Given the description of an element on the screen output the (x, y) to click on. 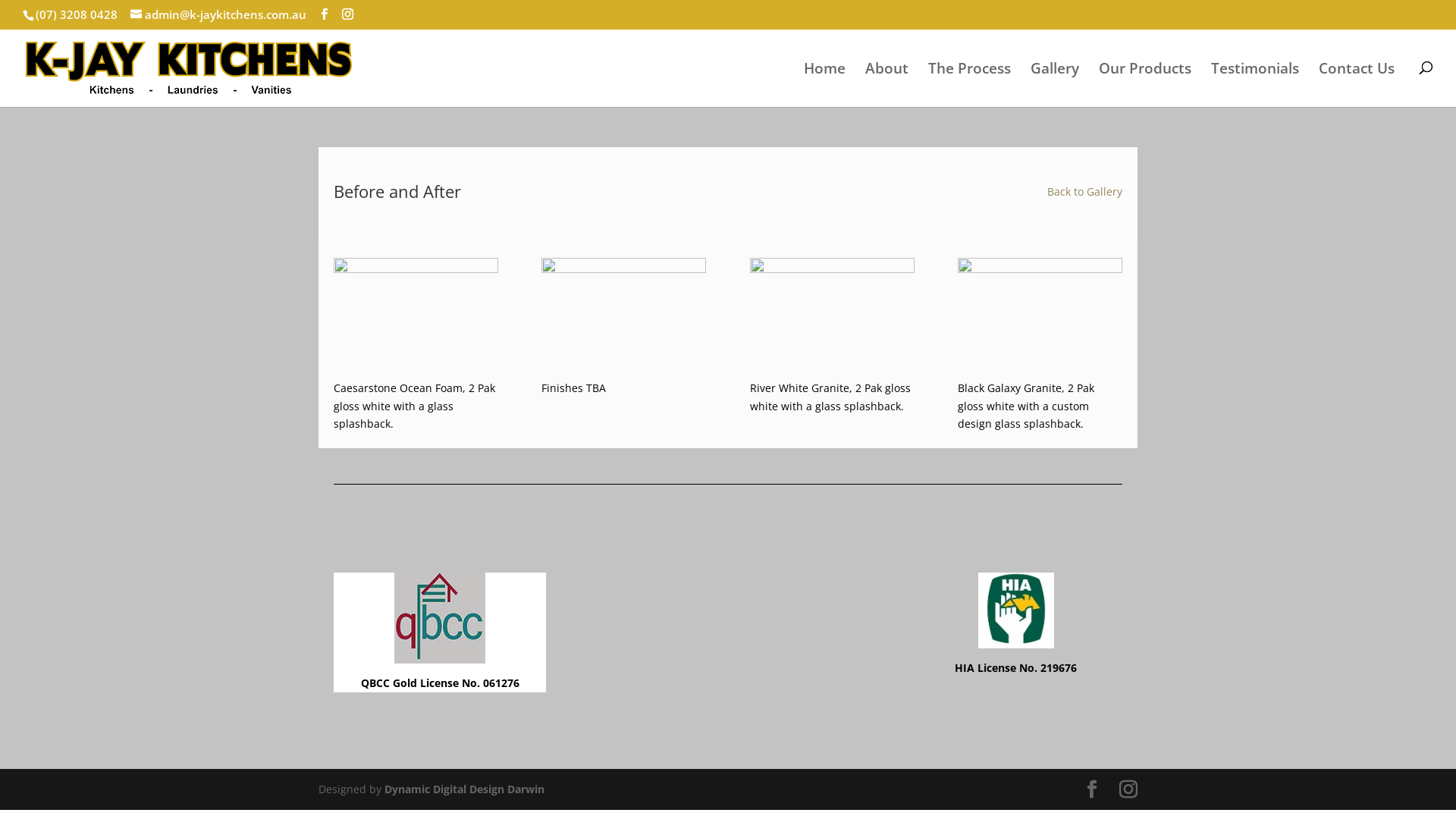
Laguizzi before after Element type: hover (623, 374)
Caruso before after Element type: hover (831, 374)
Randall before after photo Element type: hover (1039, 374)
Gallery Element type: text (1054, 67)
Home Element type: text (824, 67)
Contact Us Element type: text (1356, 67)
The Process Element type: text (969, 67)
Testimonials Element type: text (1254, 67)
admin@k-jaykitchens.com.au Element type: text (218, 13)
Richie Before After Element type: hover (415, 374)
About Element type: text (886, 67)
Dynamic Digital Design Darwin Element type: text (464, 788)
Our Products Element type: text (1144, 67)
Back to Gallery Element type: text (1084, 191)
